Given the description of an element on the screen output the (x, y) to click on. 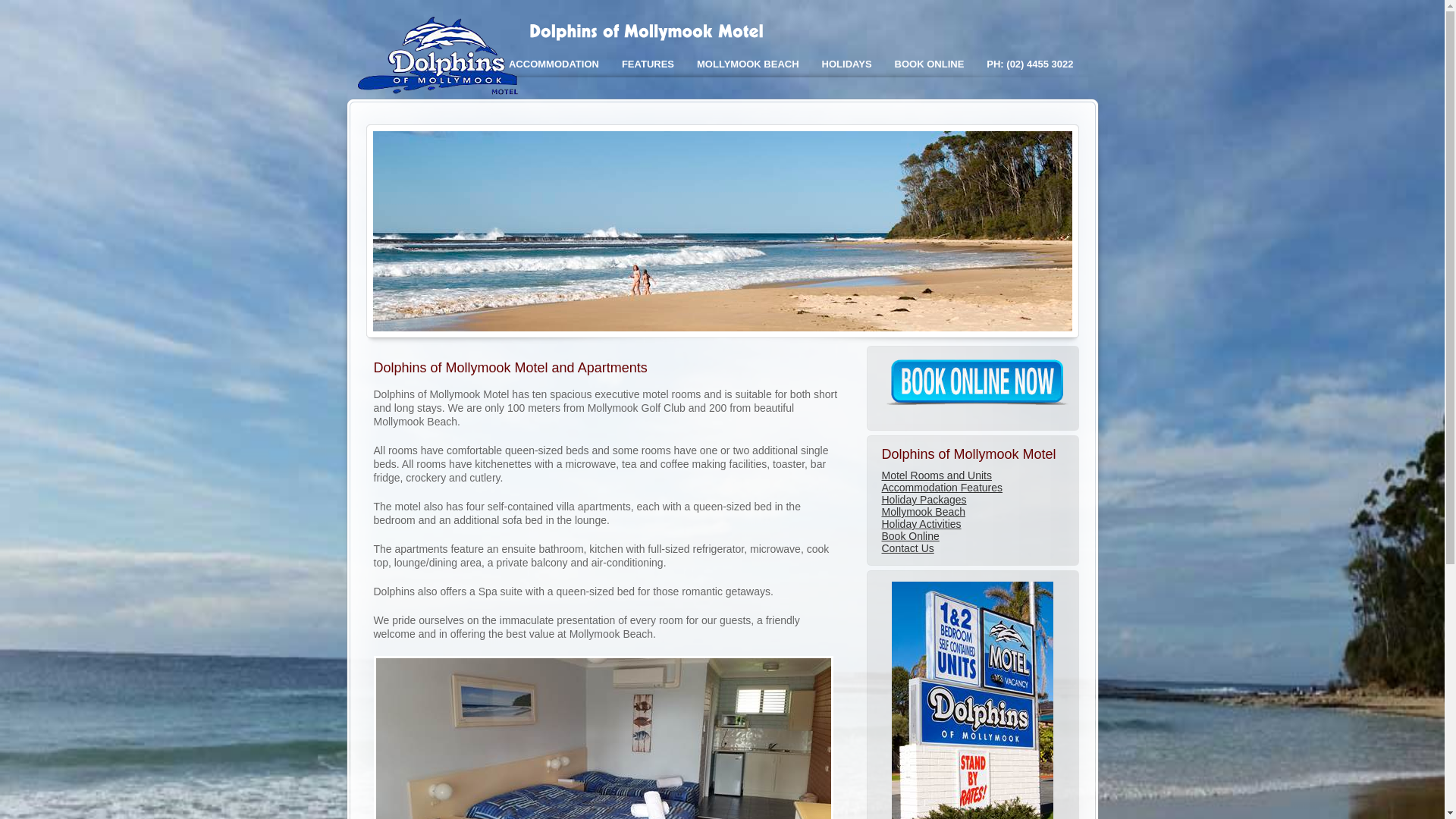
Contact Us Element type: text (907, 548)
Holiday Packages Element type: text (923, 499)
HOLIDAYS Element type: text (846, 64)
BOOK ONLINE Element type: text (929, 64)
Dolphins of Mollymook Motel Element type: hover (441, 93)
Mollymook Beach Element type: text (923, 511)
ACCOMMODATION Element type: text (553, 64)
FEATURES Element type: text (647, 64)
Accommodation Features Element type: text (941, 487)
MOLLYMOOK BEACH Element type: text (747, 64)
PH: (02) 4455 3022 Element type: text (1029, 64)
Motel Rooms and Units Element type: text (936, 475)
Book Online Element type: text (909, 536)
Holiday Activities Element type: text (920, 523)
